Given the description of an element on the screen output the (x, y) to click on. 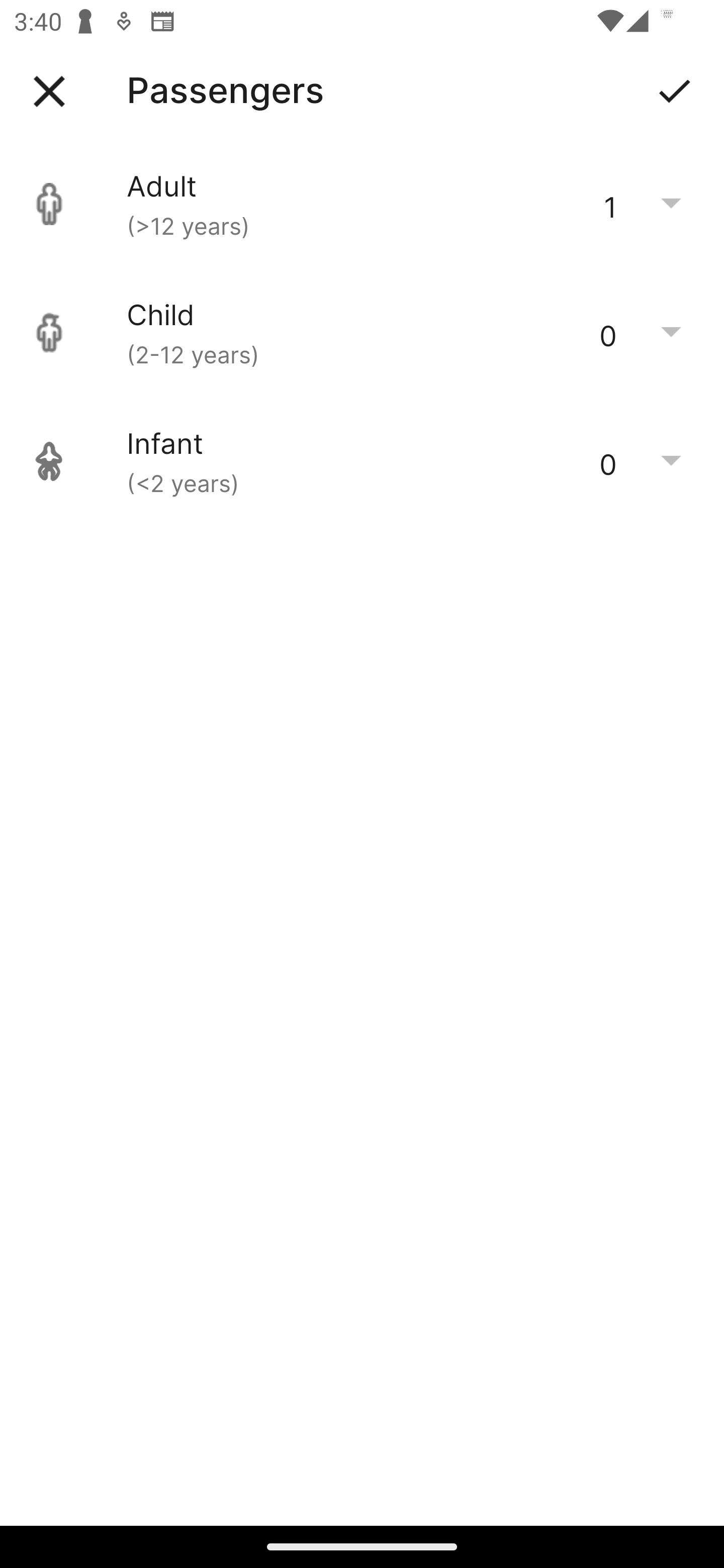
Adult (>12 years) 1 (362, 204)
Child (2-12 years) 0 (362, 332)
Infant (<2 years) 0 (362, 461)
